Given the description of an element on the screen output the (x, y) to click on. 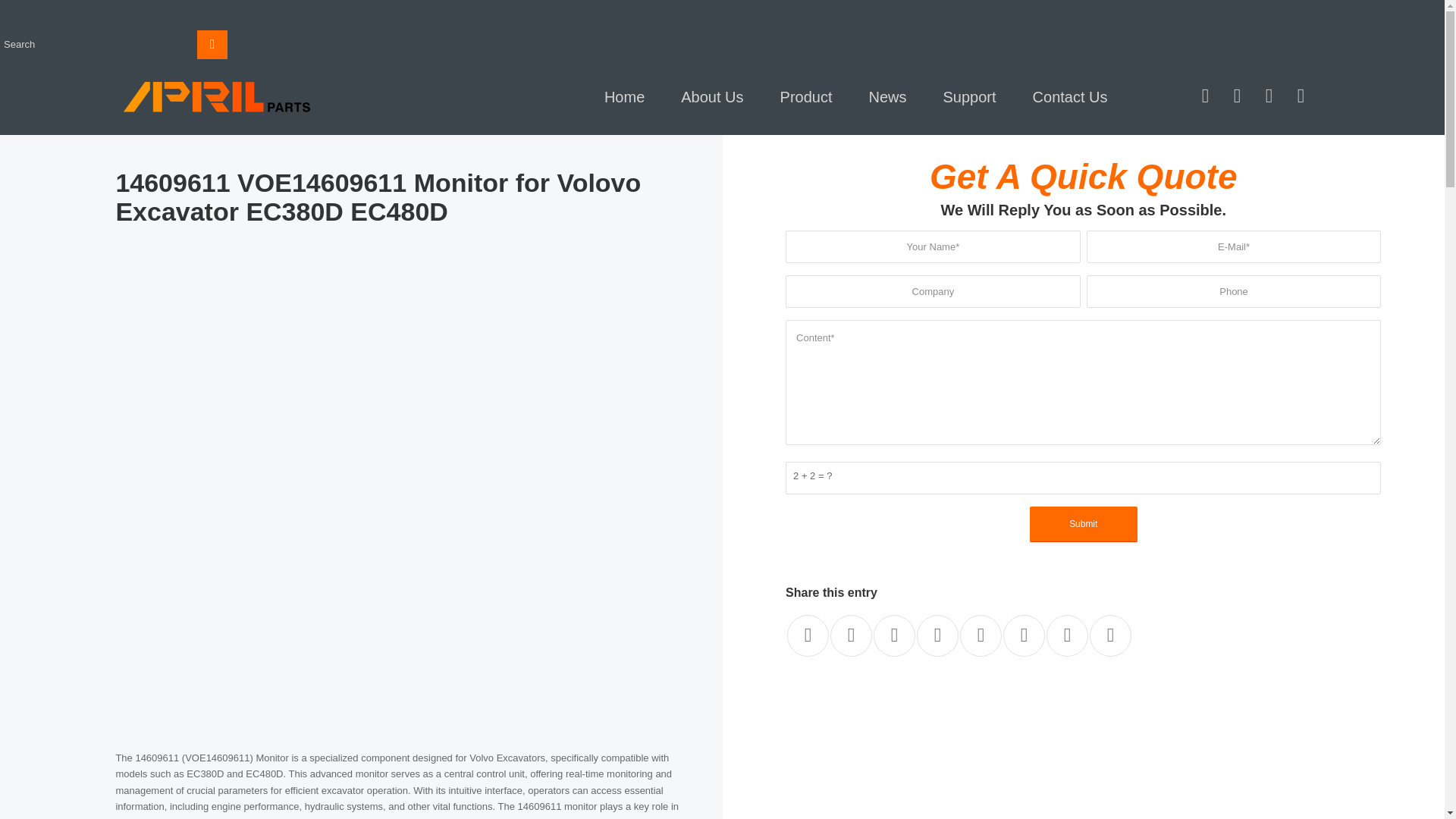
Product (805, 96)
News (887, 96)
Mail (1299, 96)
Home (624, 96)
WhatsApp (1236, 96)
Support (969, 96)
Skype (1268, 96)
Youtube (1204, 96)
Submit (1083, 524)
About Us (711, 96)
